Given the description of an element on the screen output the (x, y) to click on. 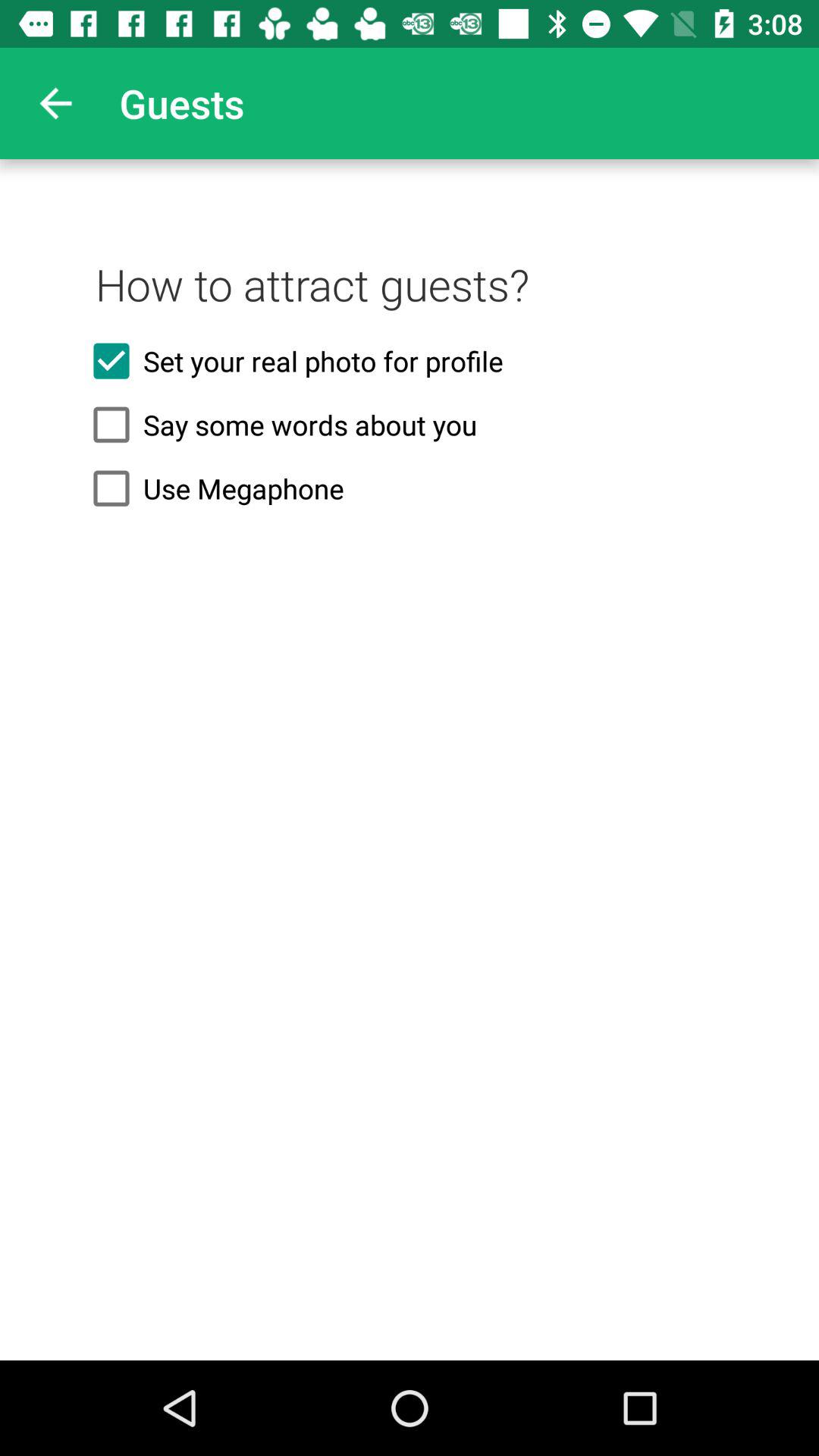
launch the item below the say some words (409, 488)
